Given the description of an element on the screen output the (x, y) to click on. 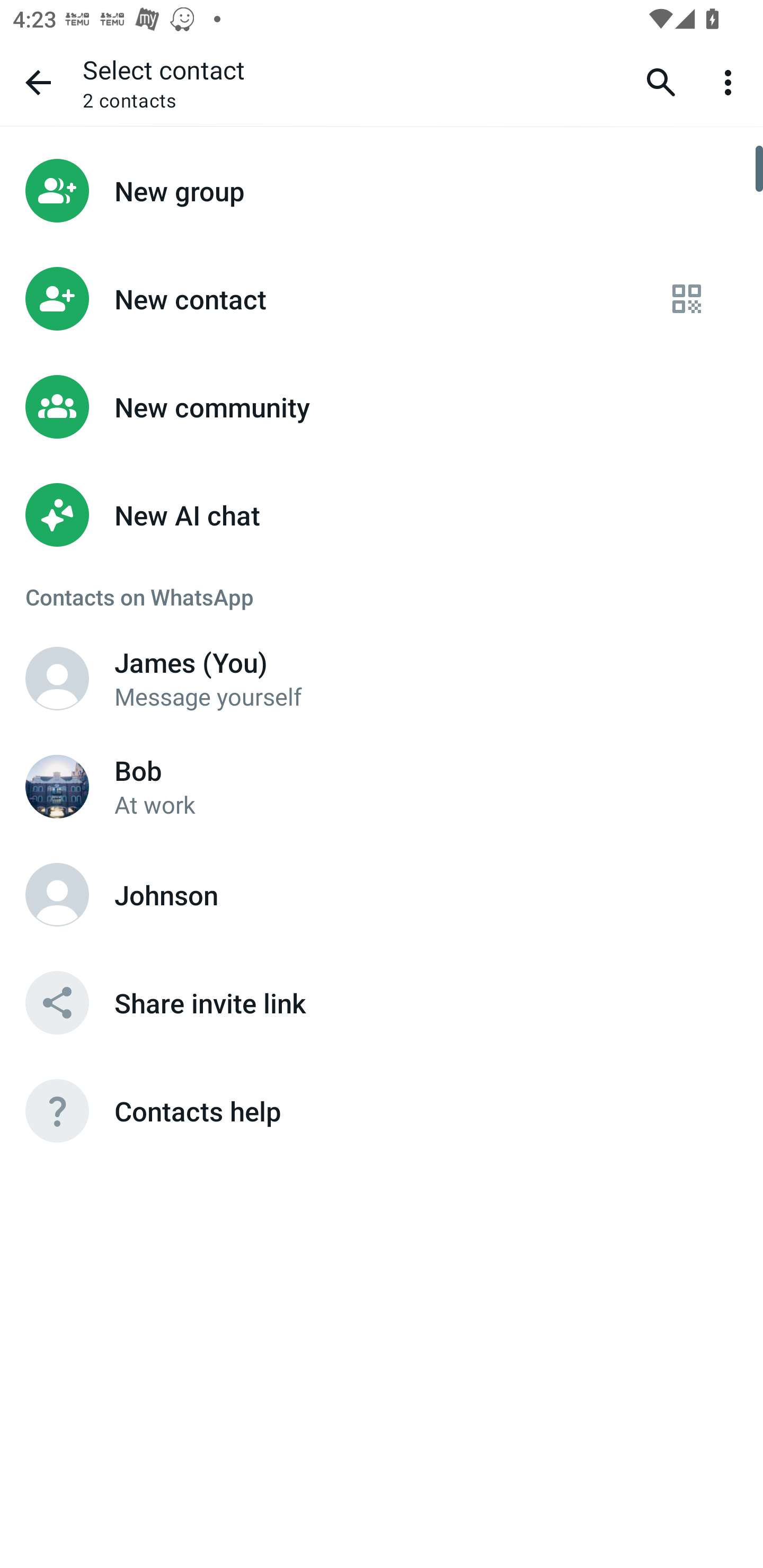
Navigate up (38, 82)
Search (661, 81)
More options (731, 81)
New group (381, 190)
New contact Scan, share QR code (381, 298)
Scan, share QR code (686, 298)
New community (381, 406)
New AI chat (381, 514)
Contacts on WhatsApp (381, 596)
+1 (646) 208-1425 James (You) Message yourself (381, 678)
+1 (646) 208-1425 (57, 678)
Bob Bob ‎At work   (381, 786)
Bob (57, 786)
Johnson (381, 894)
Johnson (57, 894)
Share invite link (381, 1002)
Contacts help (381, 1110)
